Given the description of an element on the screen output the (x, y) to click on. 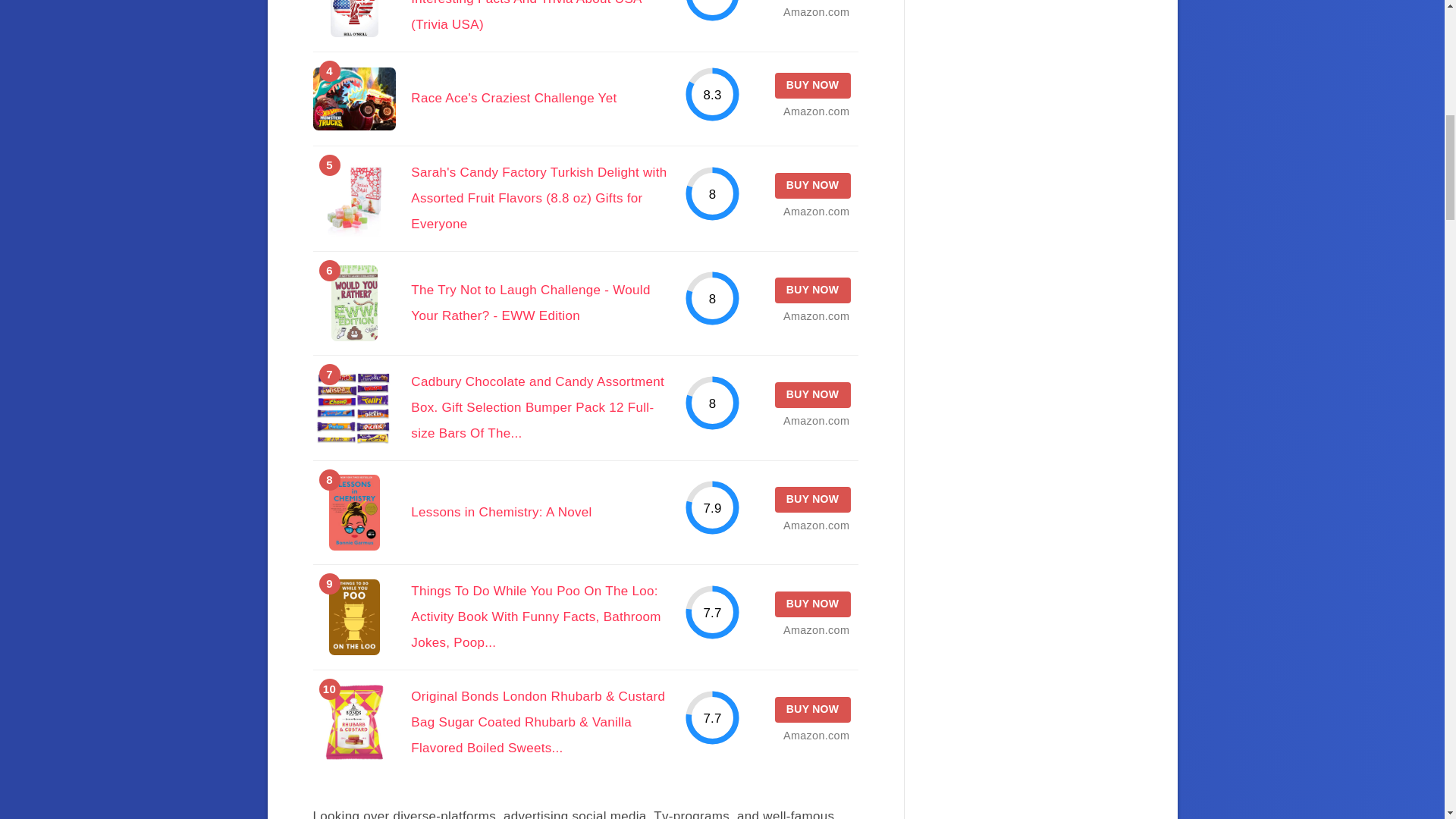
8 (712, 298)
8.6 (712, 11)
7.7 (712, 717)
8 (712, 193)
7.7 (712, 611)
8.3 (712, 94)
BUY NOW (812, 290)
7.9 (712, 507)
